Given the description of an element on the screen output the (x, y) to click on. 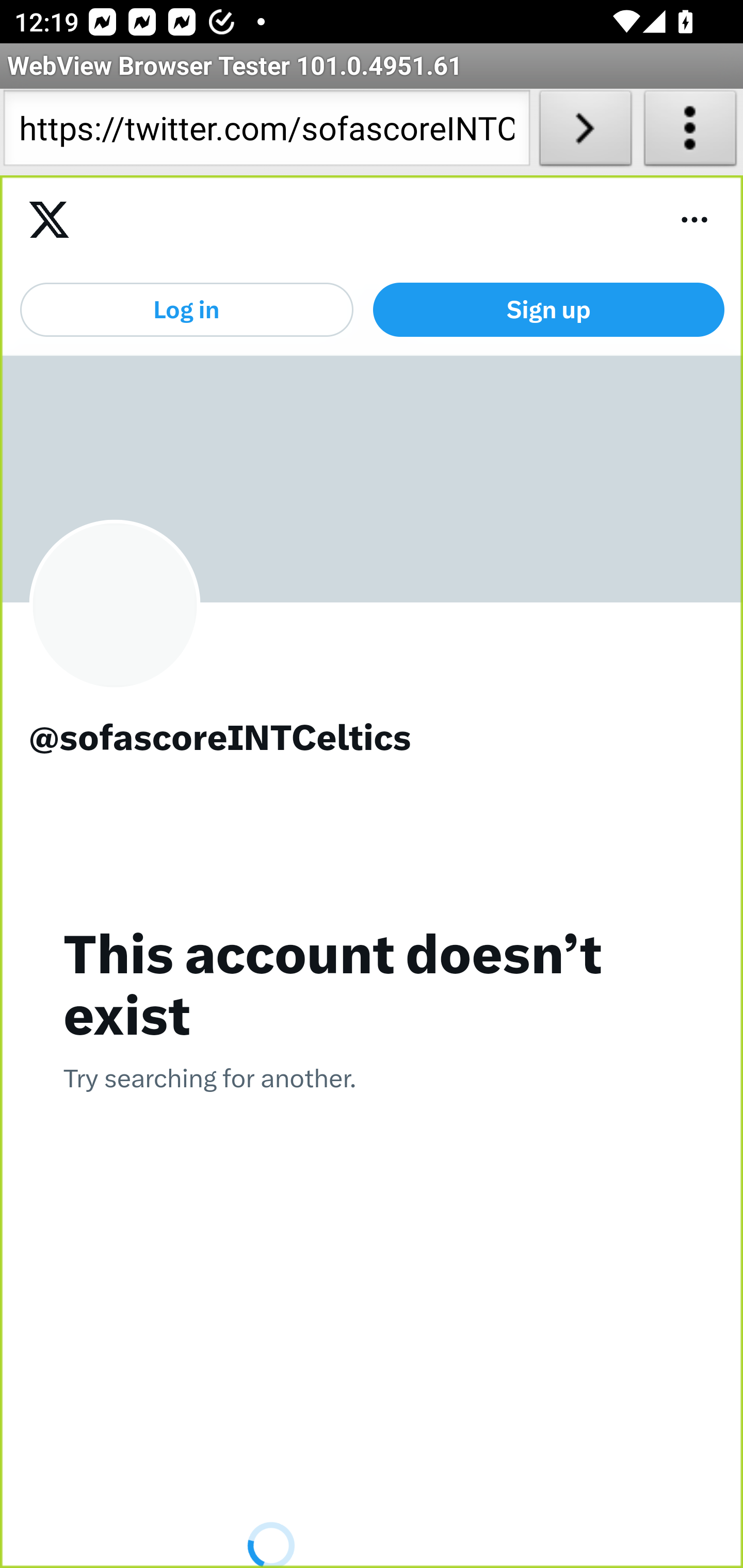
https://twitter.com/sofascoreINTCeltics (266, 132)
Load URL (585, 132)
About WebView (690, 132)
@sofascoreINTCeltics (372, 739)
